Given the description of an element on the screen output the (x, y) to click on. 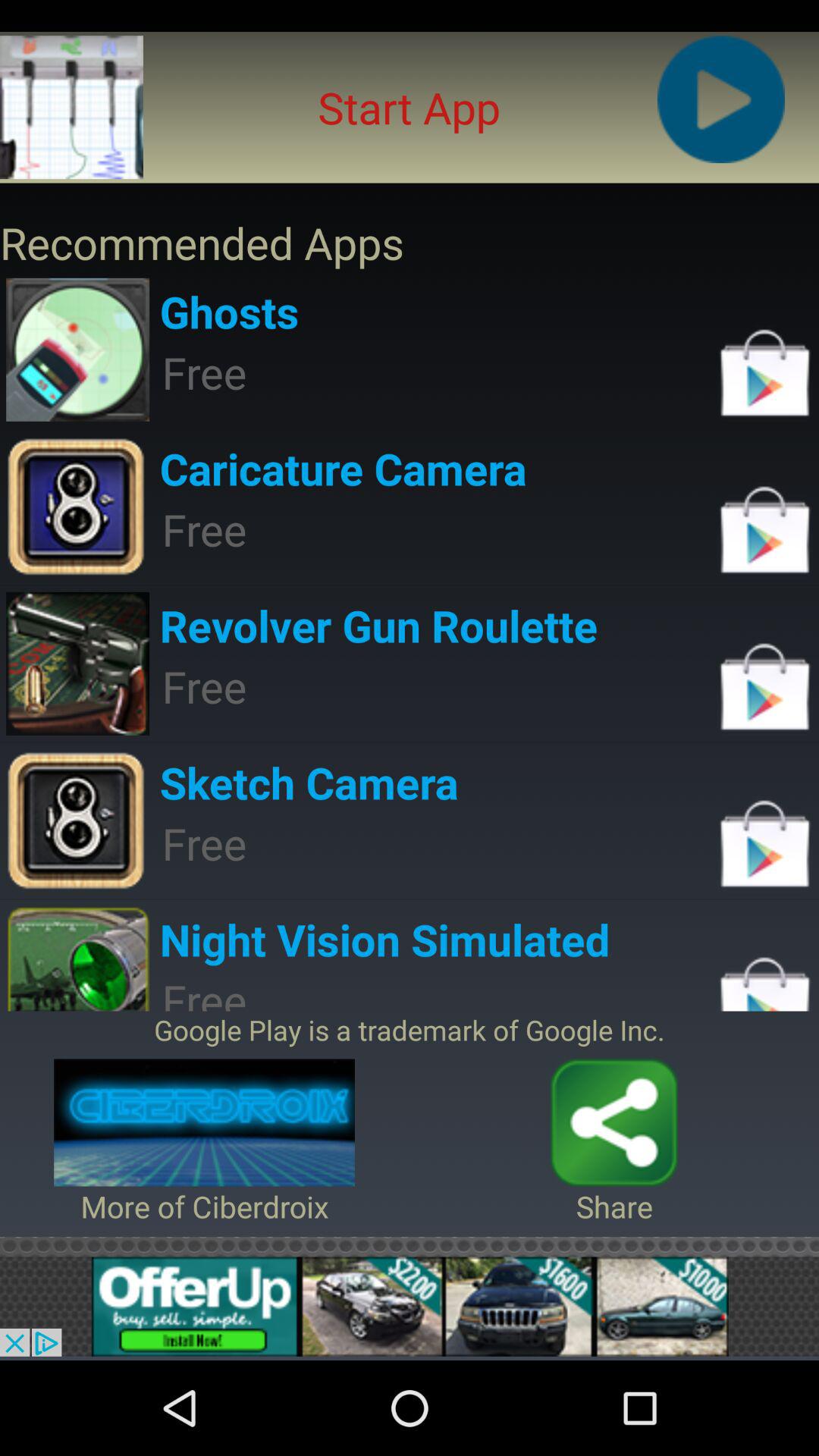
bit news (409, 1306)
